Given the description of an element on the screen output the (x, y) to click on. 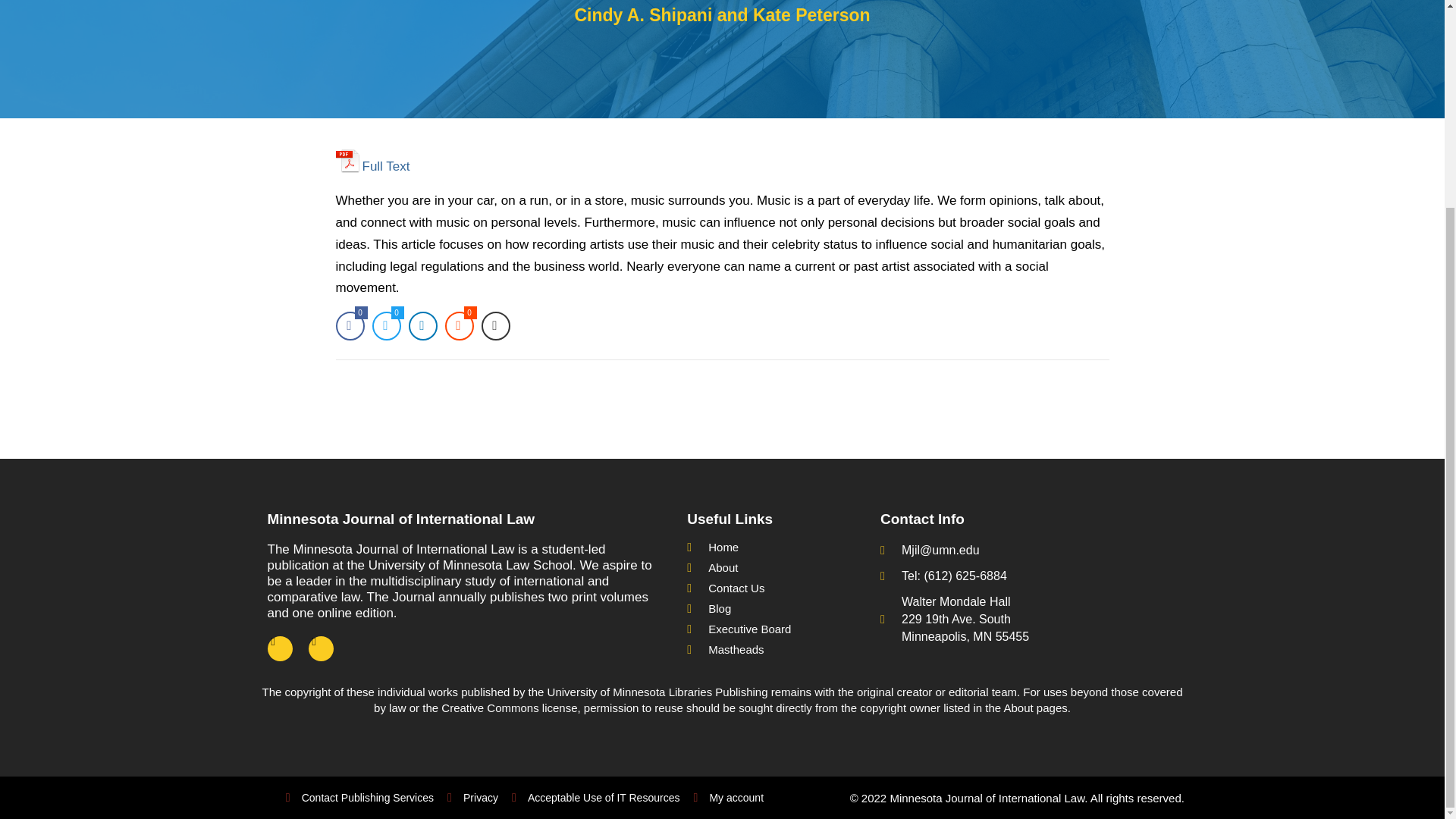
0 (385, 326)
0 (458, 326)
0 (349, 326)
Full Text (371, 160)
